Given the description of an element on the screen output the (x, y) to click on. 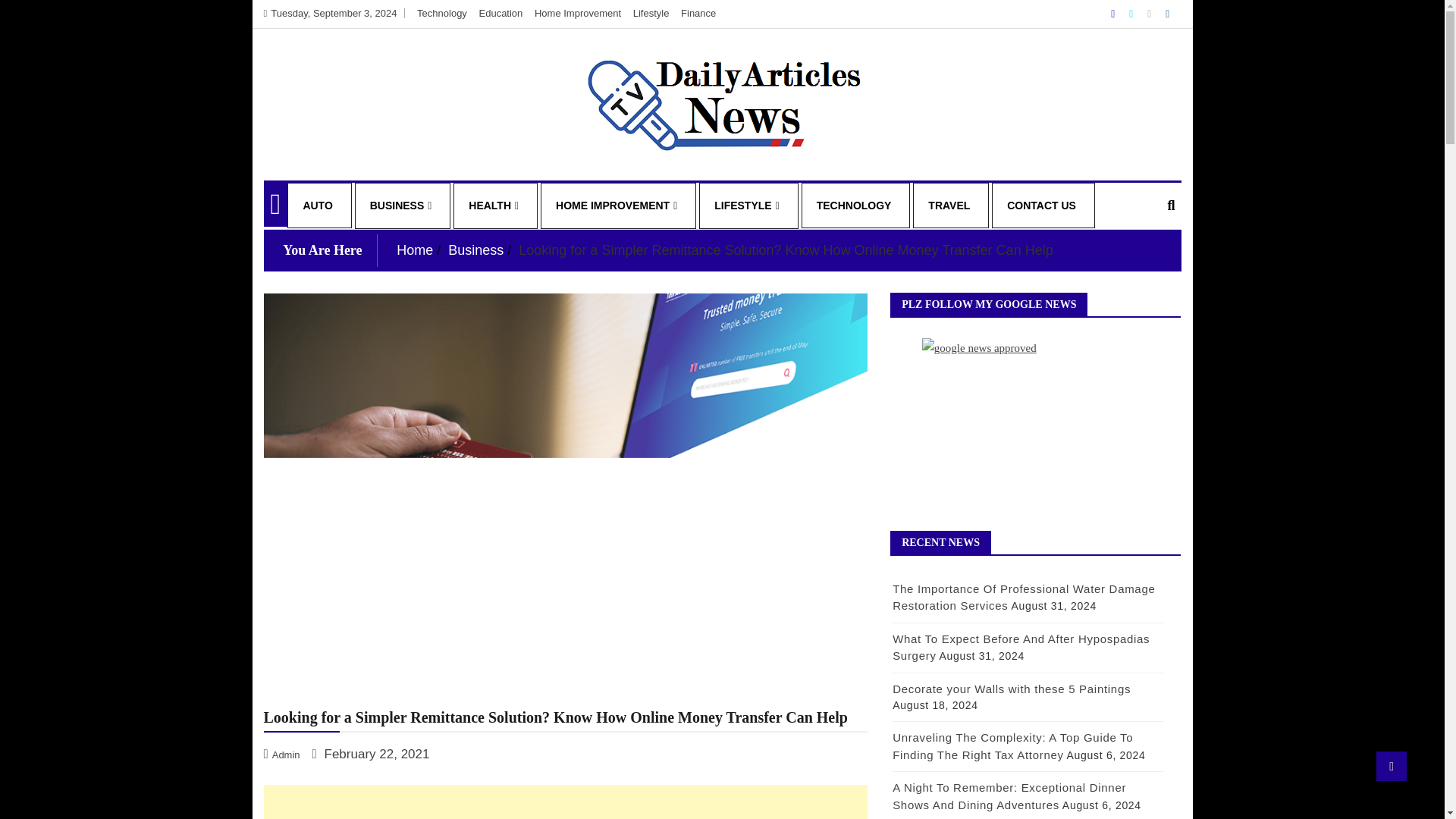
Business (475, 249)
HOME IMPROVEMENT (616, 205)
Admin (282, 753)
Education (500, 12)
BUSINESS (401, 205)
Home Improvement (577, 12)
AUTO (317, 205)
TRAVEL (949, 205)
February 22, 2021 (370, 753)
Technology (441, 12)
